Given the description of an element on the screen output the (x, y) to click on. 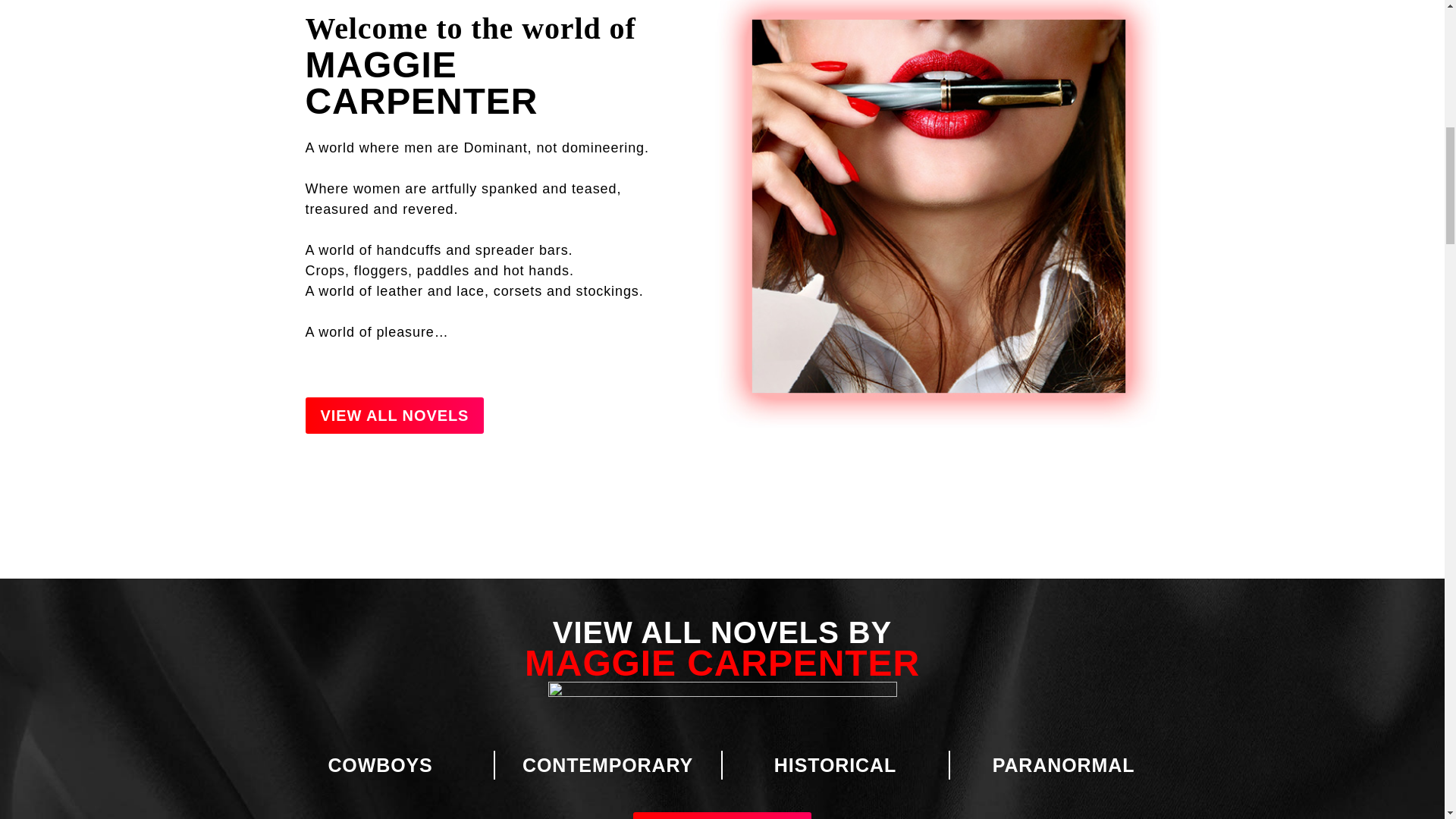
COWBOYS (379, 764)
PARANORMAL (1063, 764)
CONTEMPORARY (607, 764)
VIEW ALL NOVELS (722, 815)
VIEW ALL NOVELS (393, 415)
HISTORICAL (835, 764)
